Given the description of an element on the screen output the (x, y) to click on. 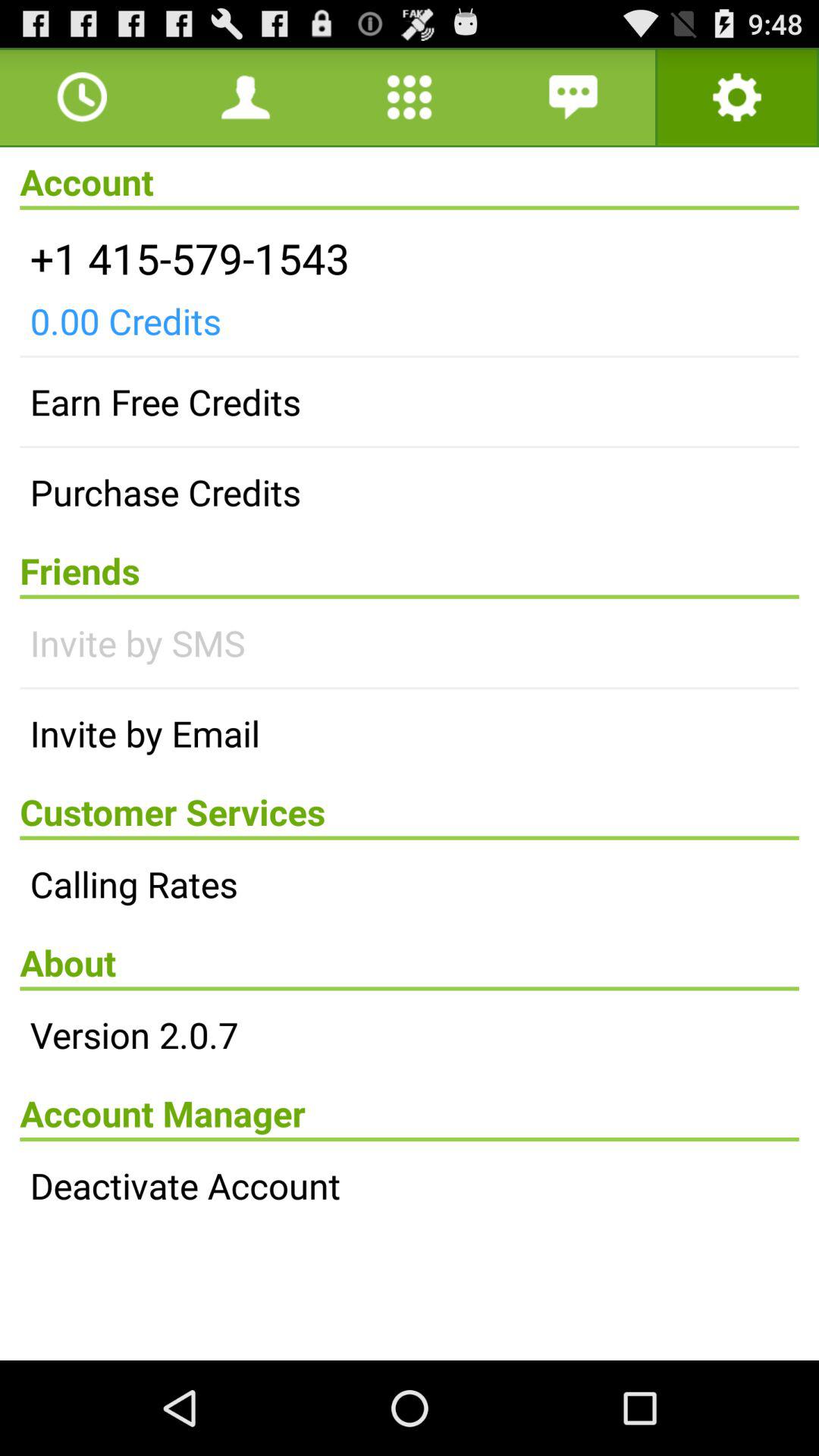
open the icon above the friends icon (409, 492)
